Given the description of an element on the screen output the (x, y) to click on. 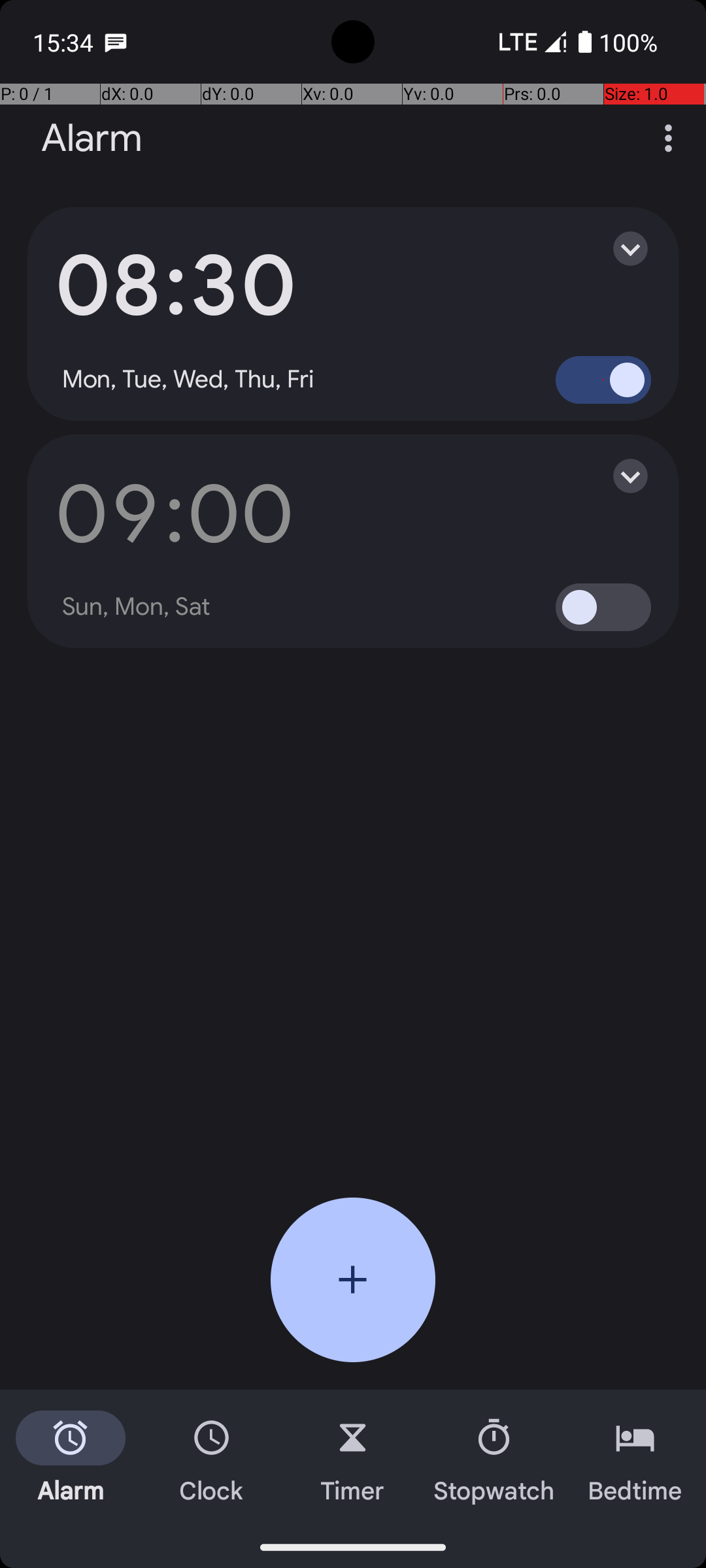
Mon, Tue, Wed, Thu, Fri Element type: android.widget.TextView (187, 379)
Sun, Mon, Sat Element type: android.widget.TextView (136, 606)
